Given the description of an element on the screen output the (x, y) to click on. 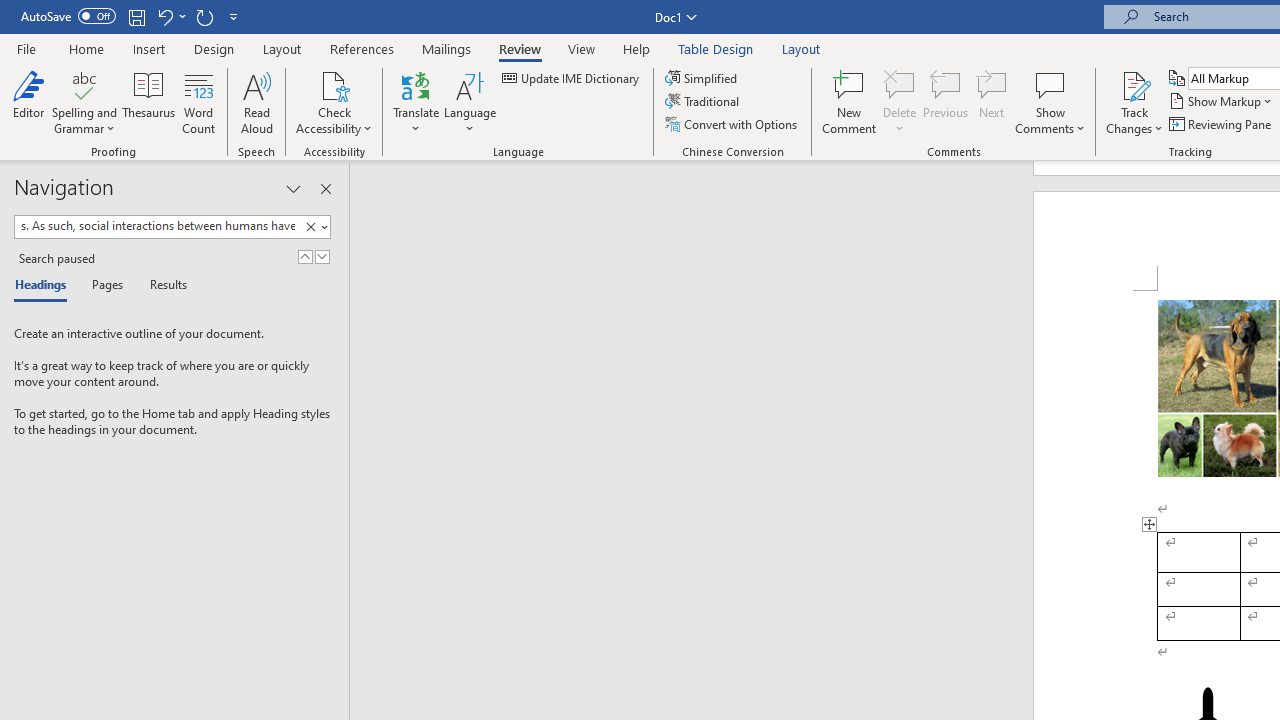
Delete (900, 102)
Clear (310, 227)
Translate (415, 102)
Delete (900, 84)
Track Changes (1134, 84)
Previous (946, 102)
New Comment (849, 102)
Undo Style (164, 15)
Check Accessibility (334, 102)
Previous Result (304, 256)
